Given the description of an element on the screen output the (x, y) to click on. 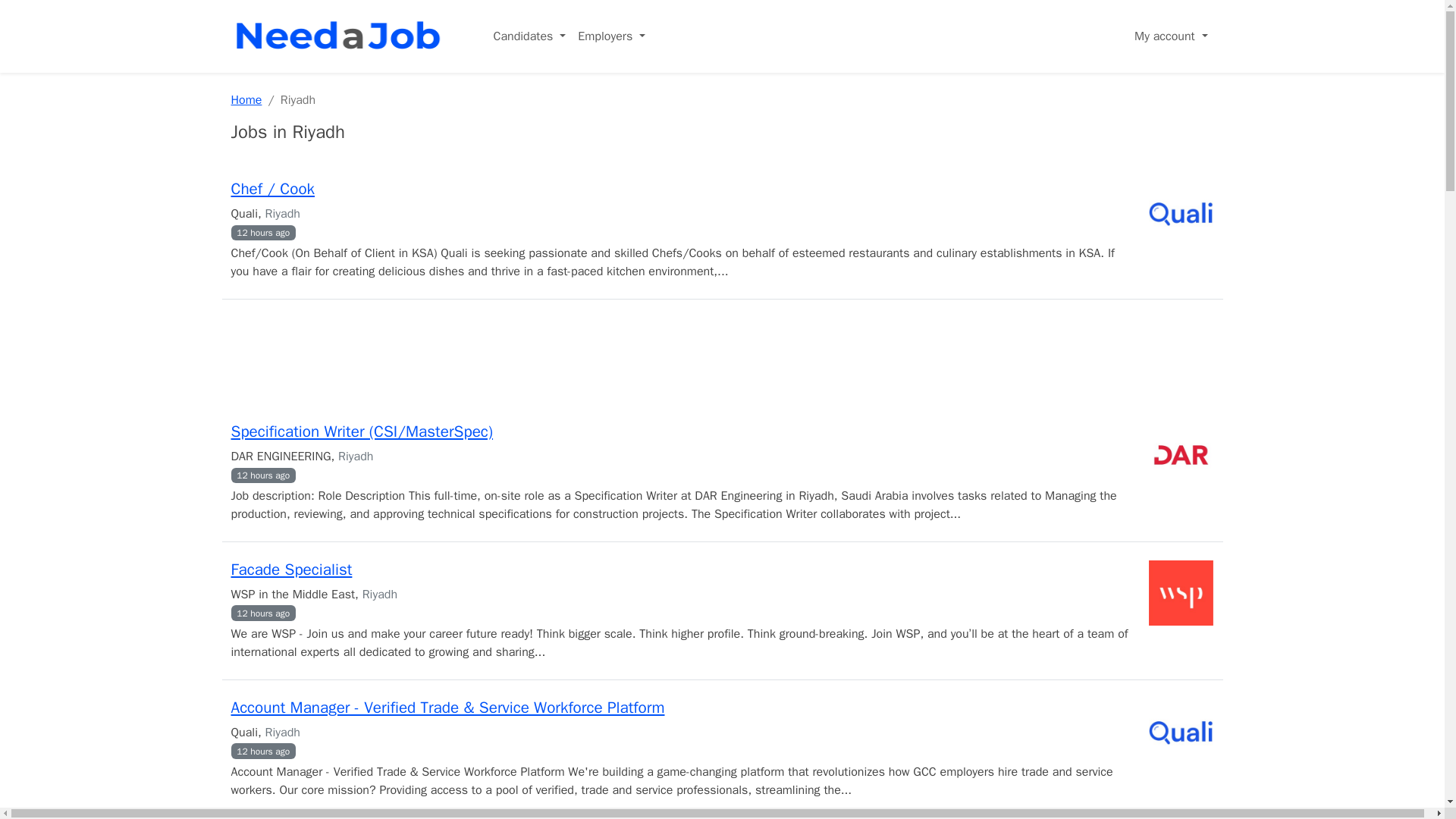
Candidates (529, 36)
Facade Specialist (291, 569)
My account (1170, 36)
Need-a-Job (339, 35)
Employers (611, 36)
Home (246, 99)
